Given the description of an element on the screen output the (x, y) to click on. 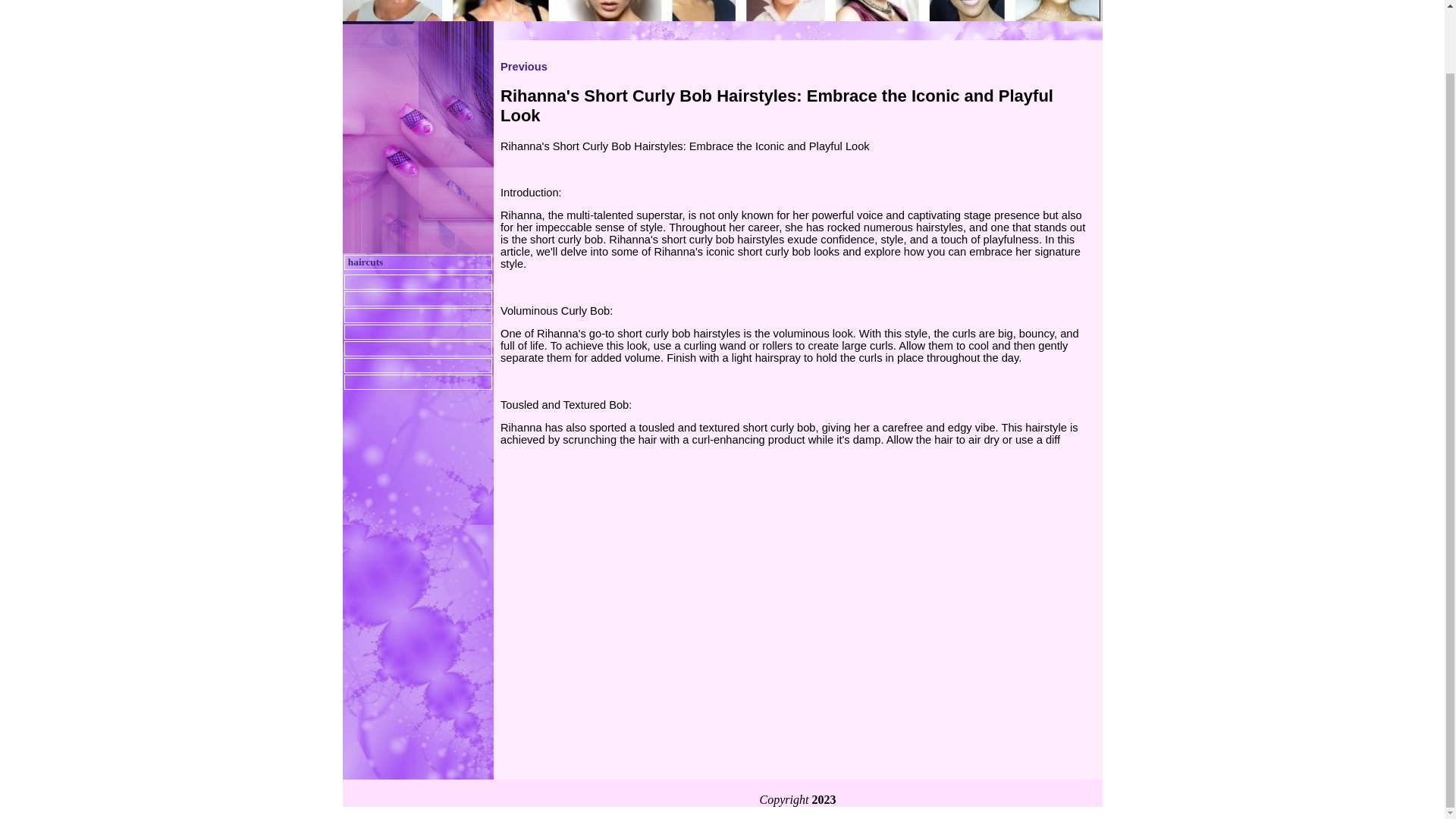
Previous (523, 66)
haircuts (364, 261)
